Given the description of an element on the screen output the (x, y) to click on. 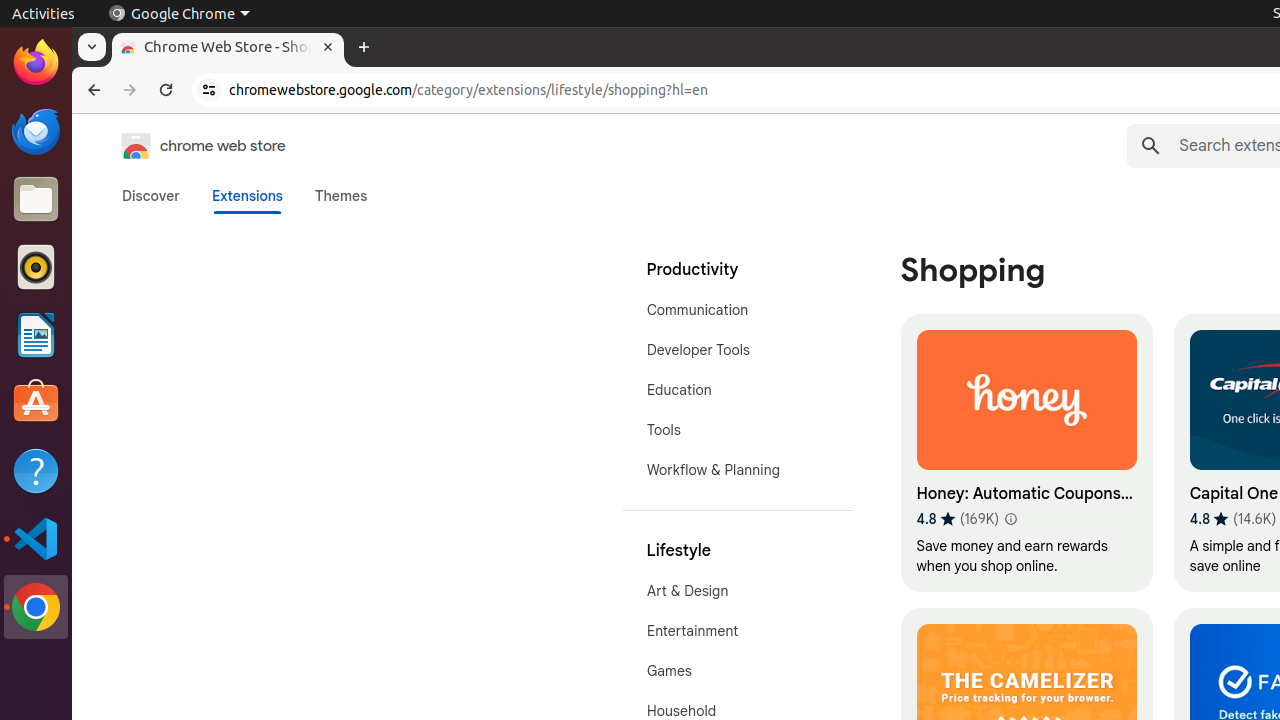
Thunderbird Mail Element type: push-button (36, 131)
Forward Element type: push-button (130, 90)
Learn more about results and reviews "Honey: Automatic Coupons & Rewards" Element type: push-button (1010, 519)
Discover Element type: page-tab (151, 196)
Extensions Element type: page-tab (247, 196)
